Given the description of an element on the screen output the (x, y) to click on. 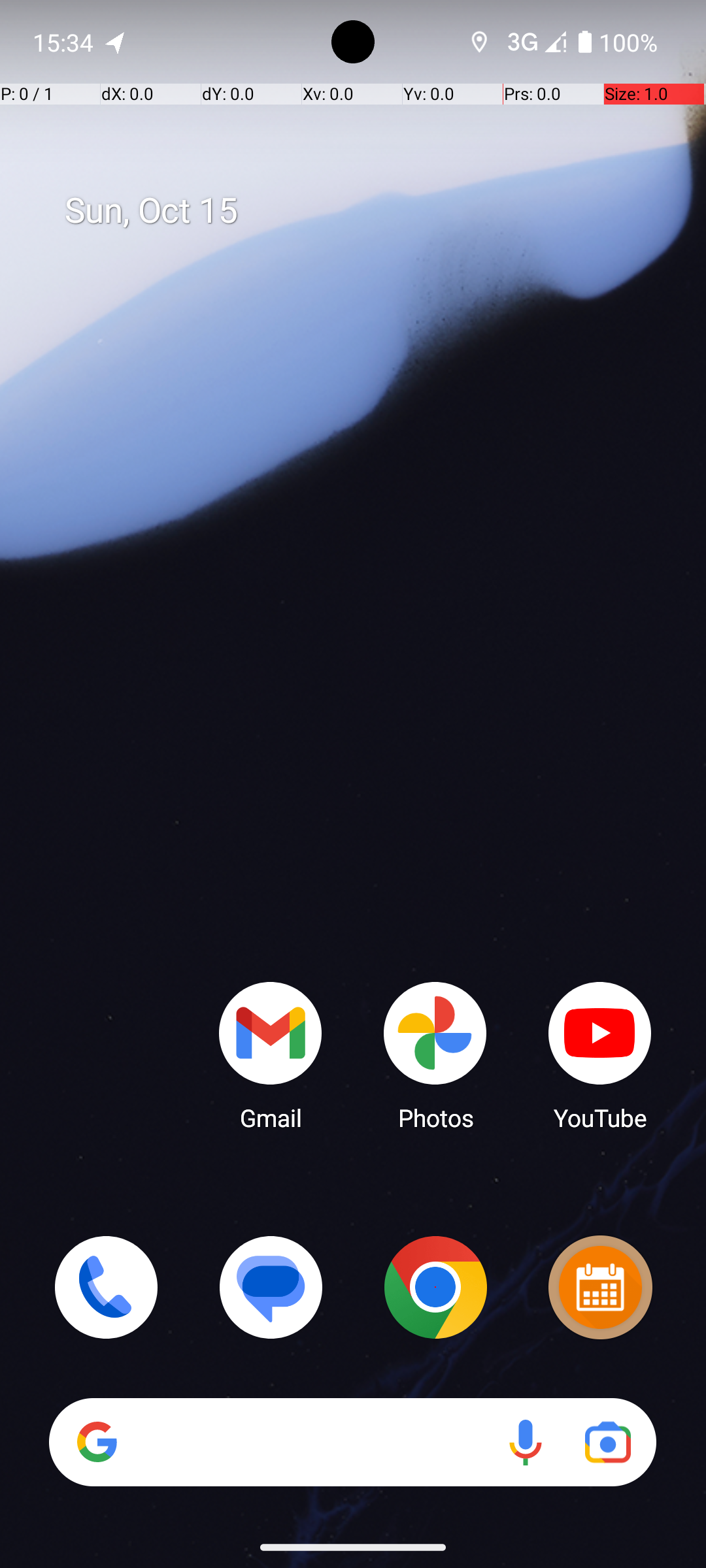
Home Element type: android.view.View (353, 804)
Phone Element type: android.widget.TextView (105, 1287)
Messages Element type: android.widget.TextView (270, 1287)
Chrome Element type: android.widget.TextView (435, 1287)
Calendar Element type: android.widget.TextView (599, 1287)
Search Element type: android.widget.FrameLayout (352, 1442)
Sun, Oct 15 Element type: android.widget.TextView (366, 210)
Gmail Element type: android.widget.TextView (270, 1054)
Photos Element type: android.widget.TextView (435, 1054)
YouTube Element type: android.widget.TextView (599, 1054)
Google app Element type: android.widget.ImageView (97, 1441)
Voice search Element type: android.widget.ImageView (525, 1442)
Google Lens Element type: android.widget.ImageButton (607, 1442)
OpenTracks notification: Distance: 0.00 ft Element type: android.widget.ImageView (115, 41)
Location requests active Element type: android.widget.ImageView (479, 41)
